Given the description of an element on the screen output the (x, y) to click on. 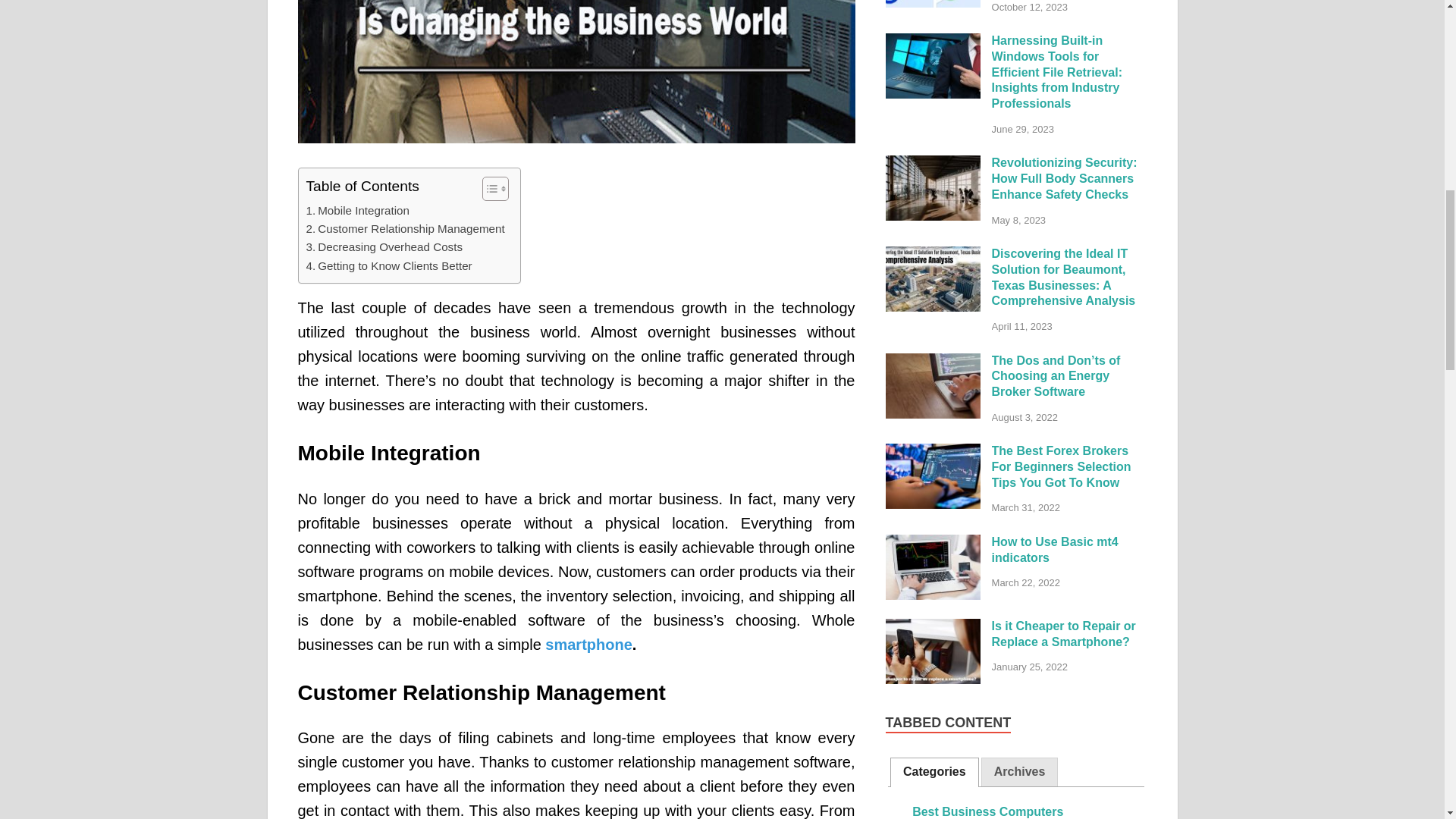
Customer Relationship Management (405, 229)
Mobile Integration (357, 210)
Getting to Know Clients Better (388, 266)
Decreasing Overhead Costs (384, 247)
